Given the description of an element on the screen output the (x, y) to click on. 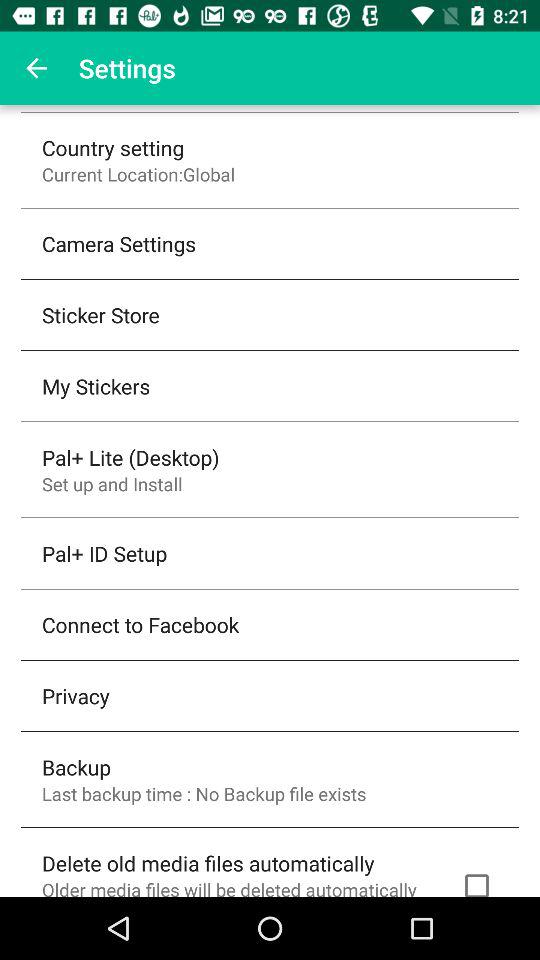
launch the icon above the delete old media icon (204, 793)
